Given the description of an element on the screen output the (x, y) to click on. 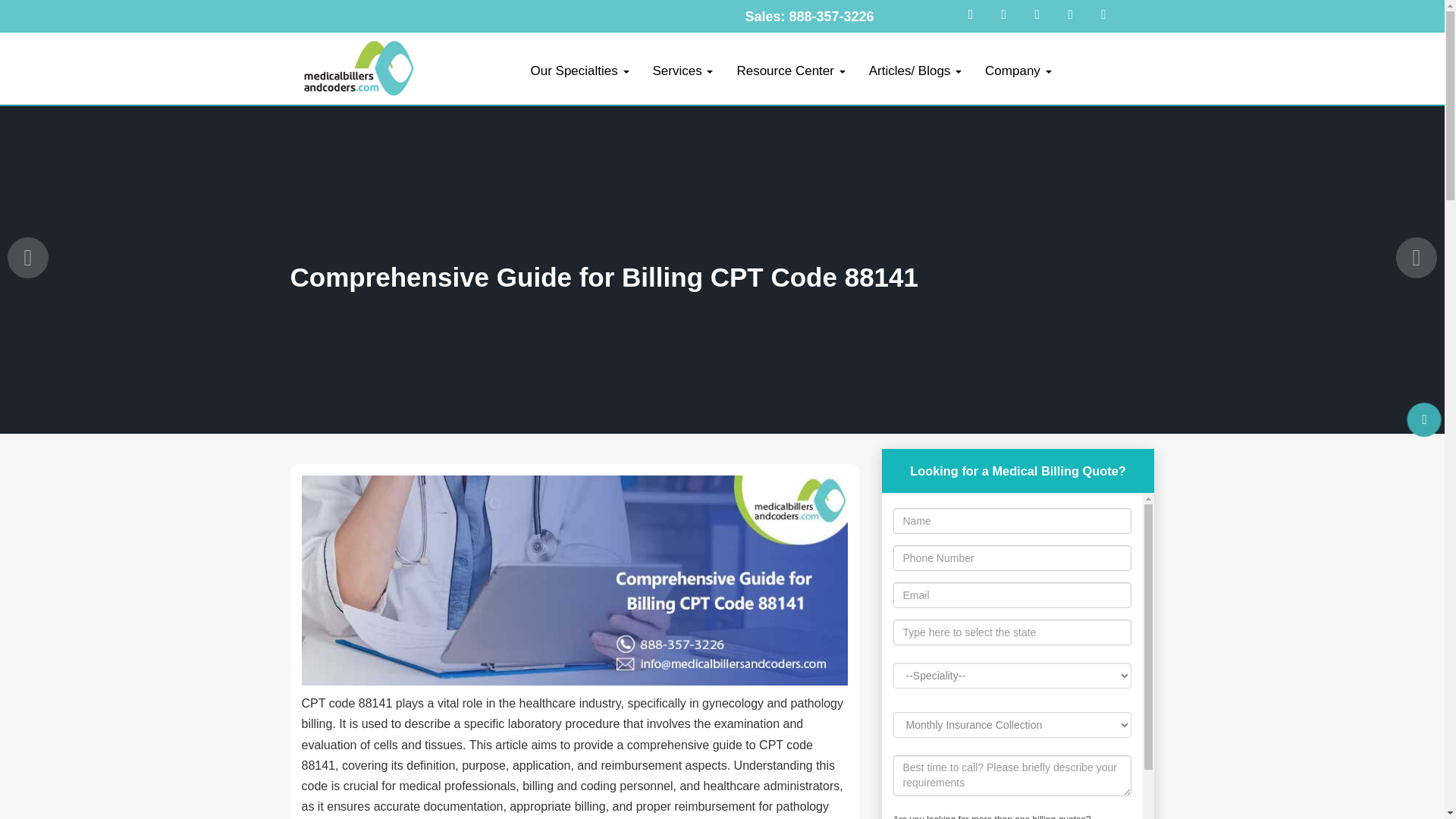
Our Specialties (579, 71)
Sales: 888-357-3226 (808, 16)
Services (681, 71)
